Given the description of an element on the screen output the (x, y) to click on. 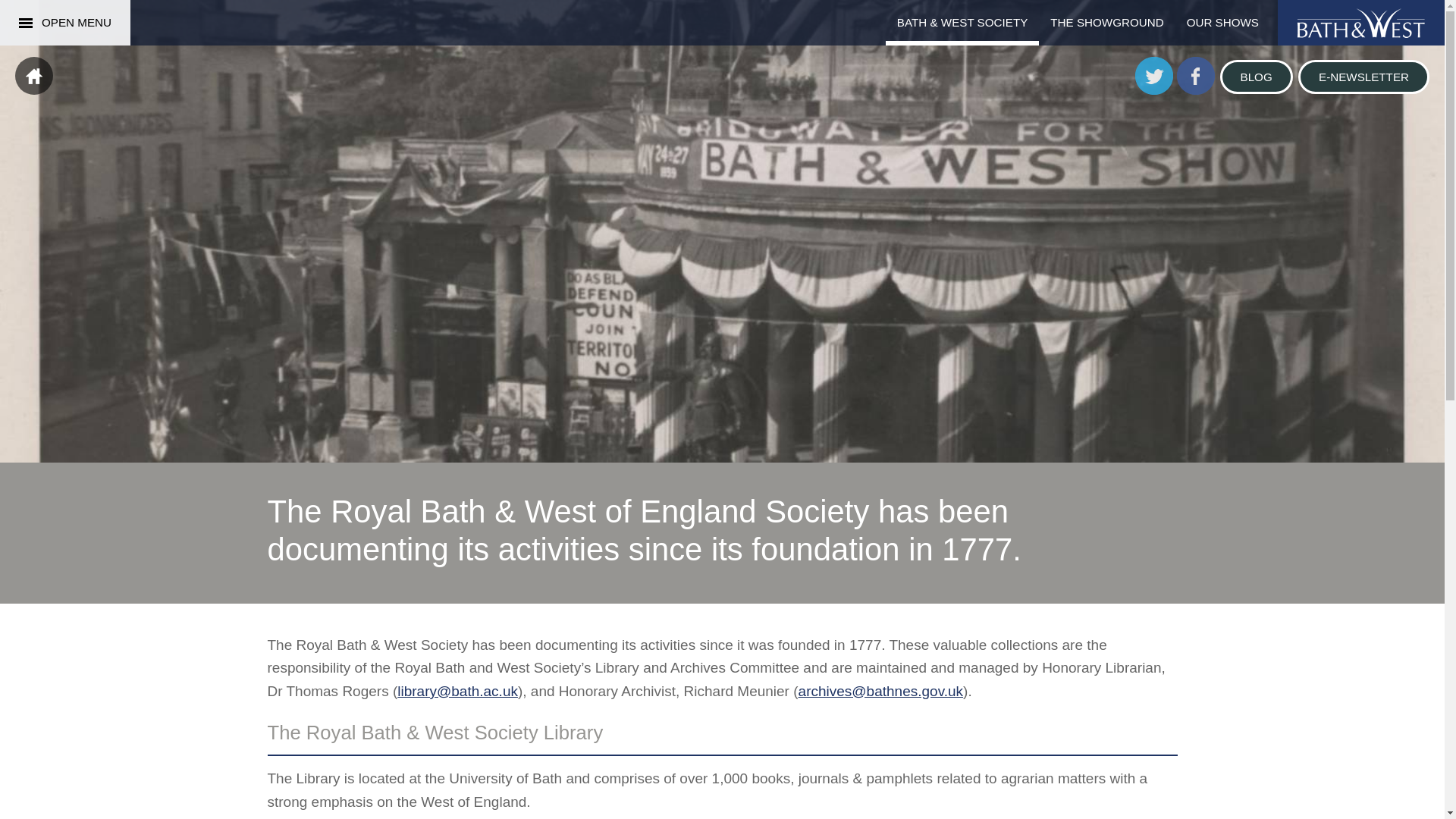
OPEN MENU (65, 22)
Home Page (33, 75)
E-NEWSLETTER (1363, 76)
BLOG (1256, 76)
OUR SHOWS (1221, 22)
THE SHOWGROUND (1106, 22)
